Given the description of an element on the screen output the (x, y) to click on. 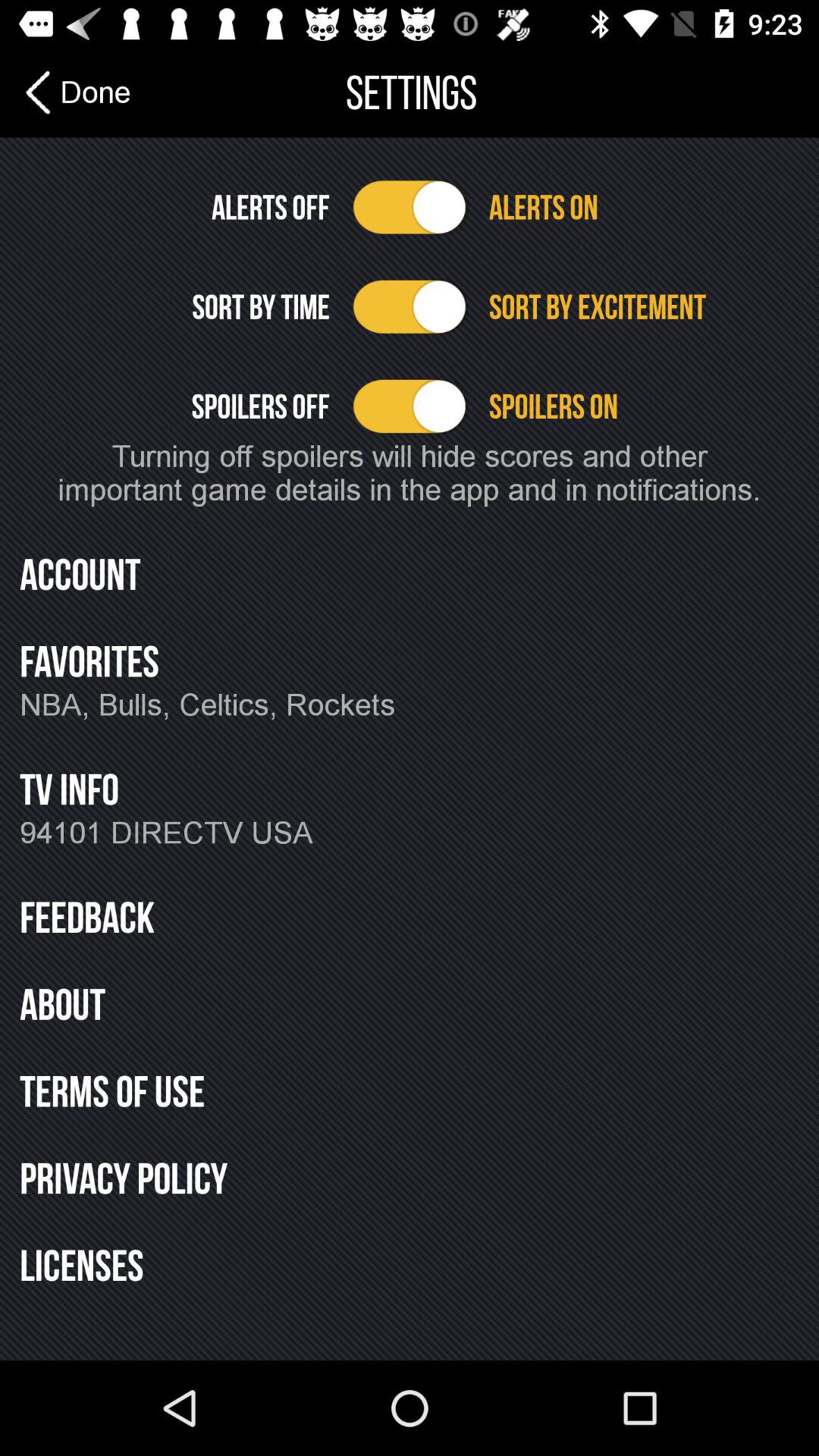
toggle alert notifications (409, 207)
